Given the description of an element on the screen output the (x, y) to click on. 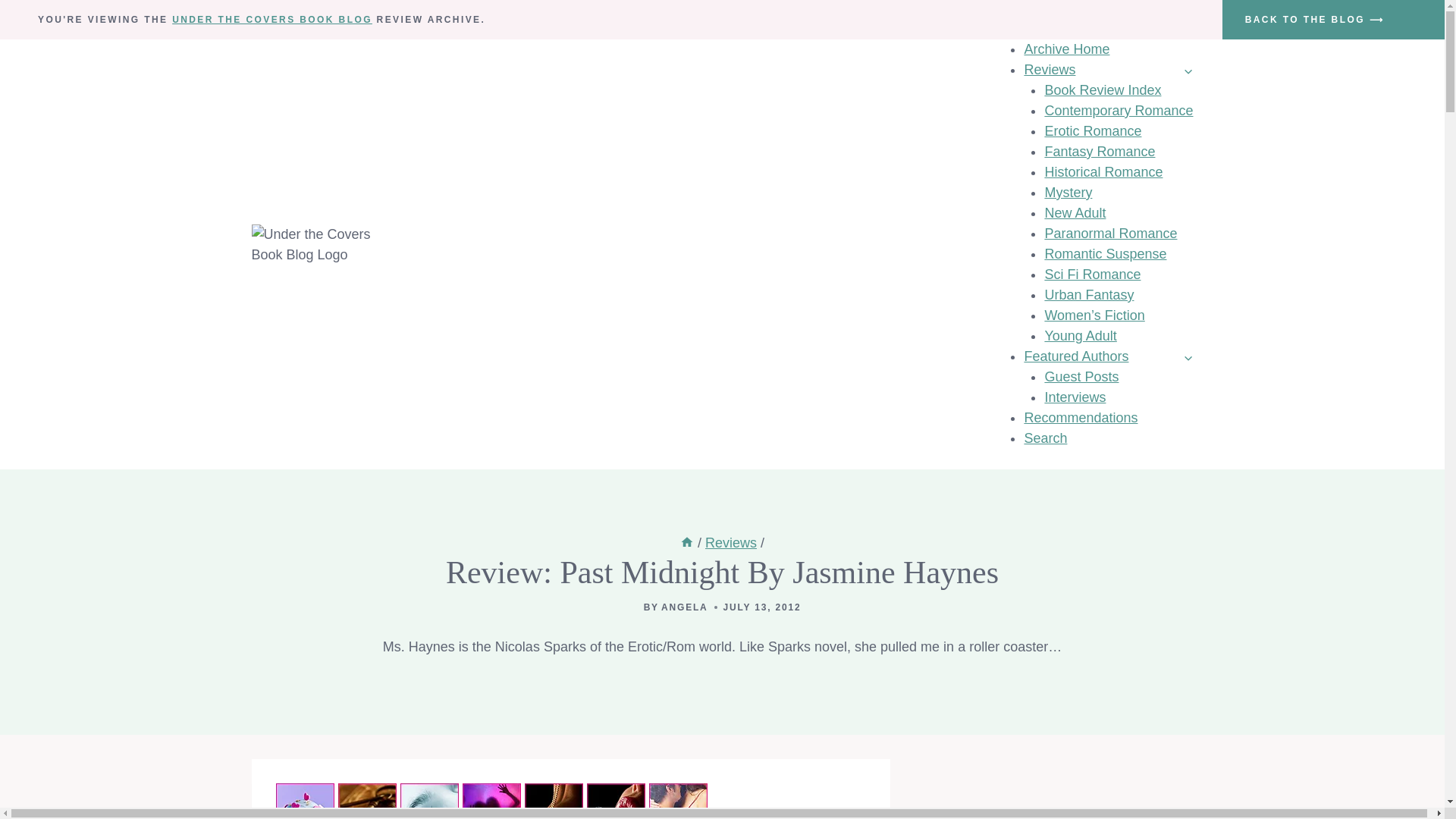
Guest Posts (1080, 376)
Recommendations (1080, 417)
Historical Romance (1102, 171)
Paranormal Romance (1109, 233)
New Adult (1074, 212)
Search (1045, 437)
UNDER THE COVERS BOOK BLOG (271, 19)
Home (686, 542)
Fantasy Romance (1098, 151)
Featured Authors (1107, 356)
Sci Fi Romance (1091, 273)
Reviews (1107, 69)
Interviews (1074, 396)
Young Adult (1079, 335)
Archive Home (1066, 48)
